Given the description of an element on the screen output the (x, y) to click on. 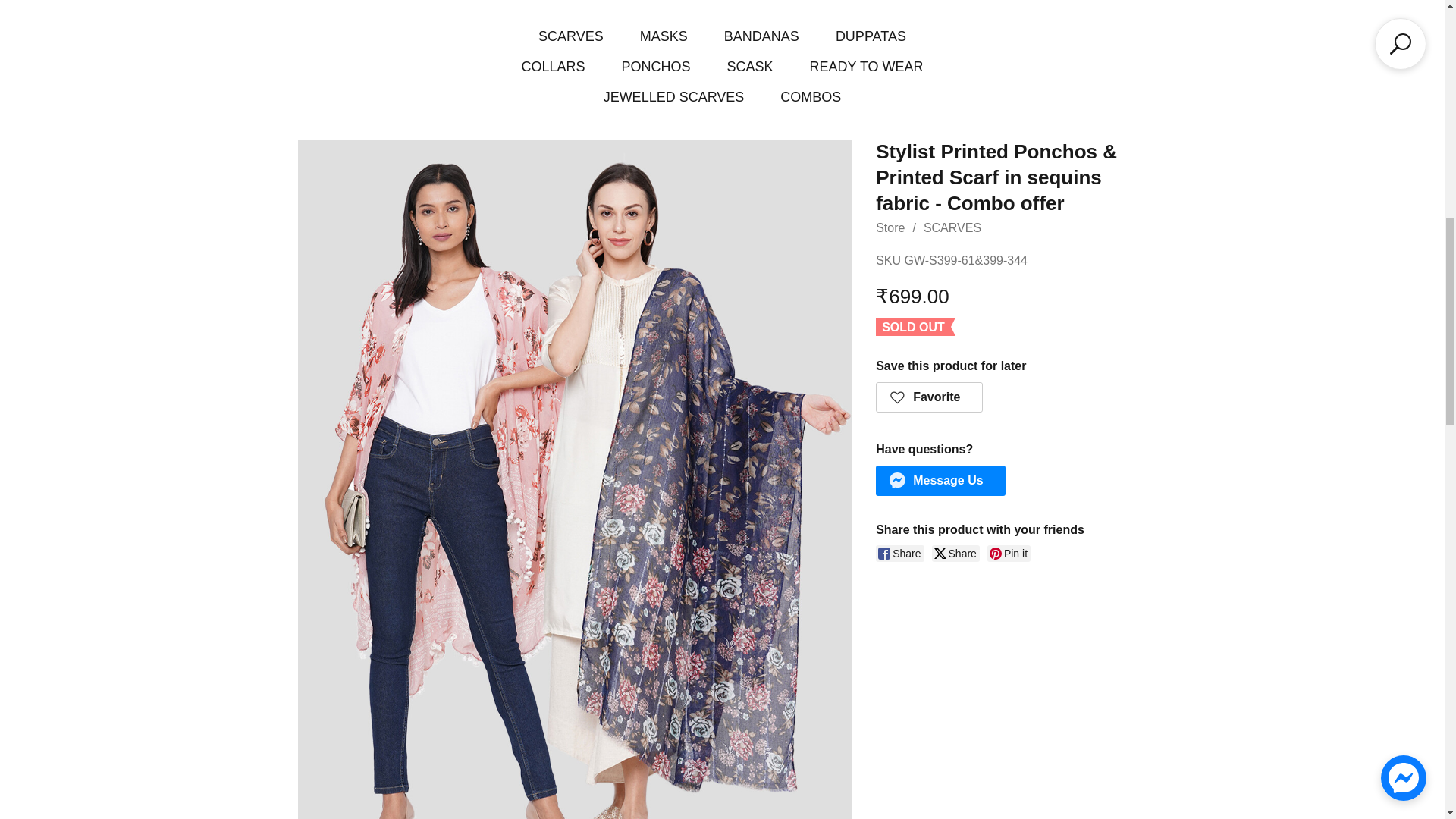
COLLARS (553, 66)
SCARVES (571, 36)
SCASK (749, 66)
BANDANAS (761, 36)
PONCHOS (655, 66)
JEWELLED SCARVES (674, 96)
MASKS (663, 36)
DUPPATAS (870, 36)
READY TO WEAR (866, 66)
